Given the description of an element on the screen output the (x, y) to click on. 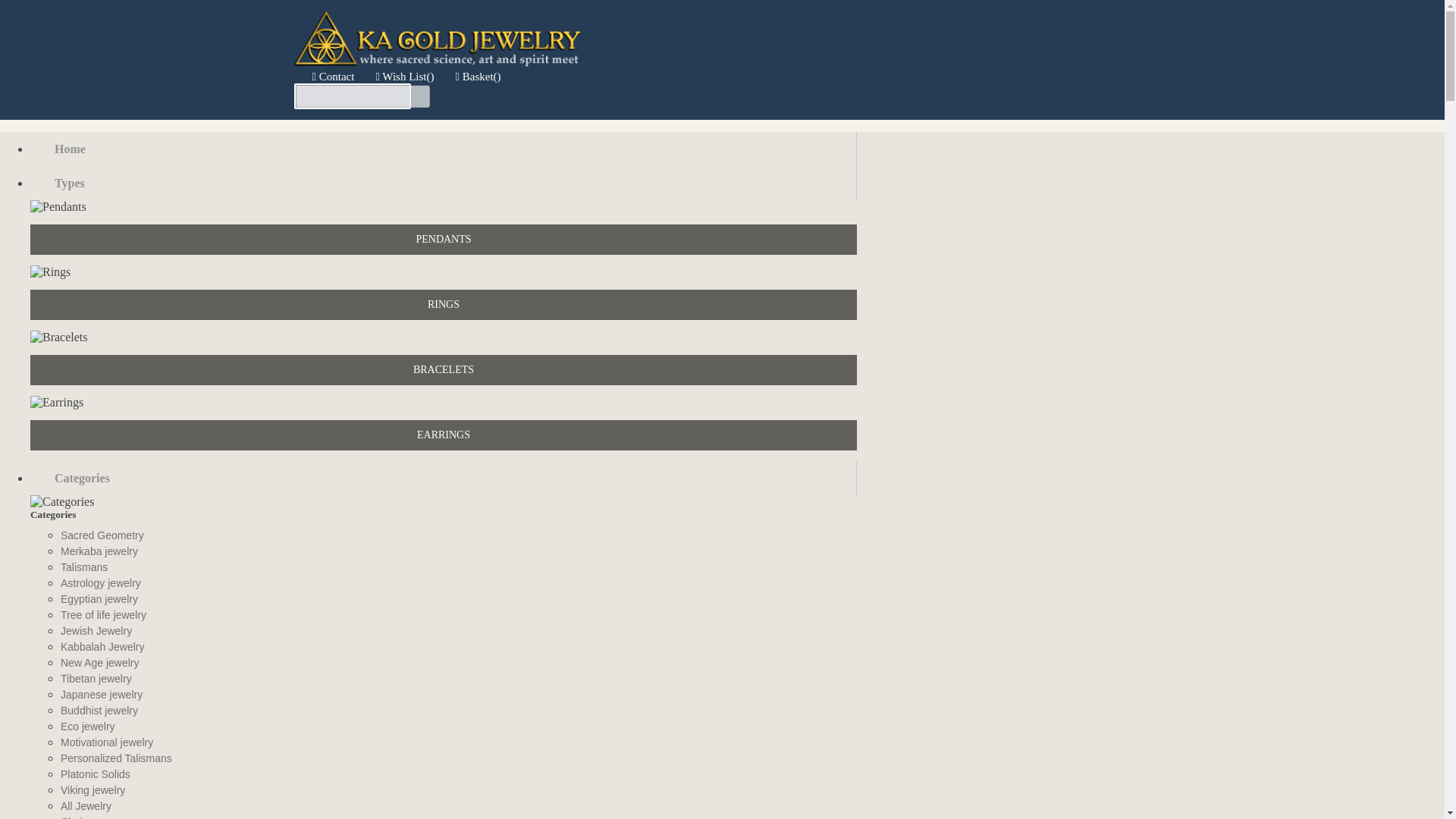
Motivational jewelry (459, 743)
Earrings (56, 402)
Tree of life jewelry (459, 616)
Japanese jewelry (459, 695)
Platonic Solids (459, 775)
All Jewelry (459, 807)
Types (443, 182)
Viking jewelry (459, 791)
Talismans (459, 568)
Eco jewelry (459, 727)
